Given the description of an element on the screen output the (x, y) to click on. 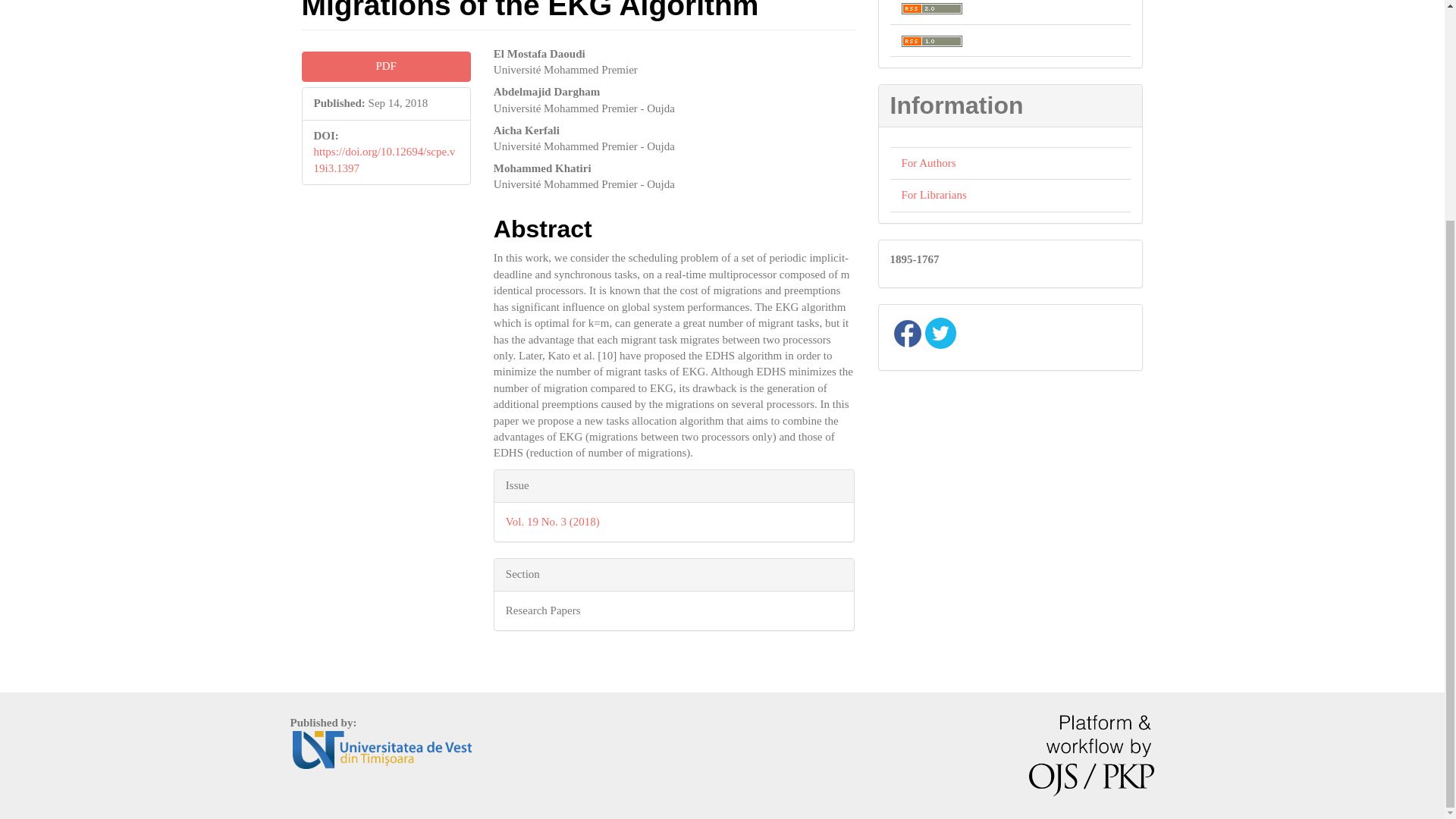
Universitatea de Vest din Timisoara (381, 748)
For Authors (928, 162)
PDF (385, 66)
For Librarians (933, 194)
